Given the description of an element on the screen output the (x, y) to click on. 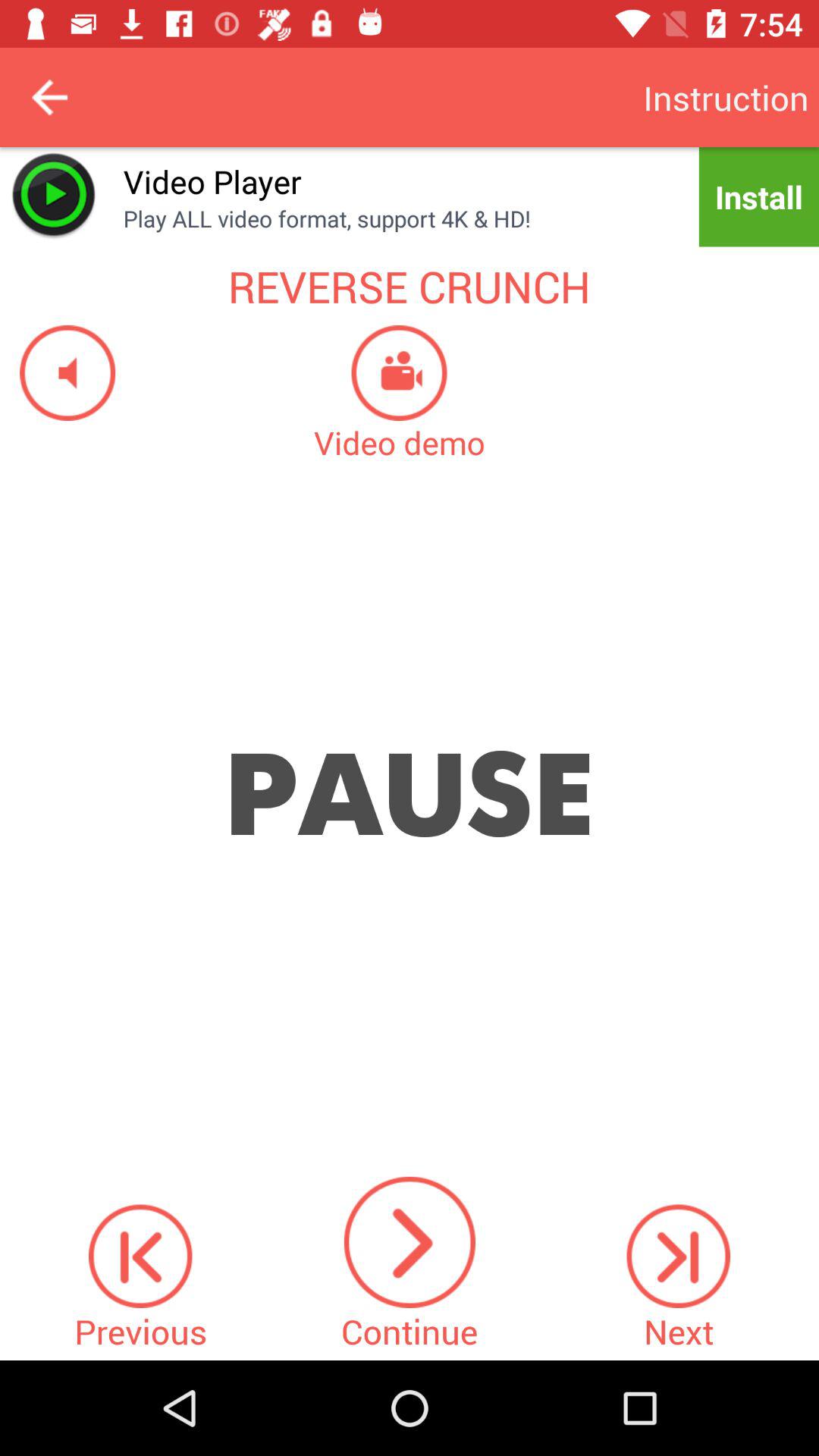
go back (49, 97)
